Given the description of an element on the screen output the (x, y) to click on. 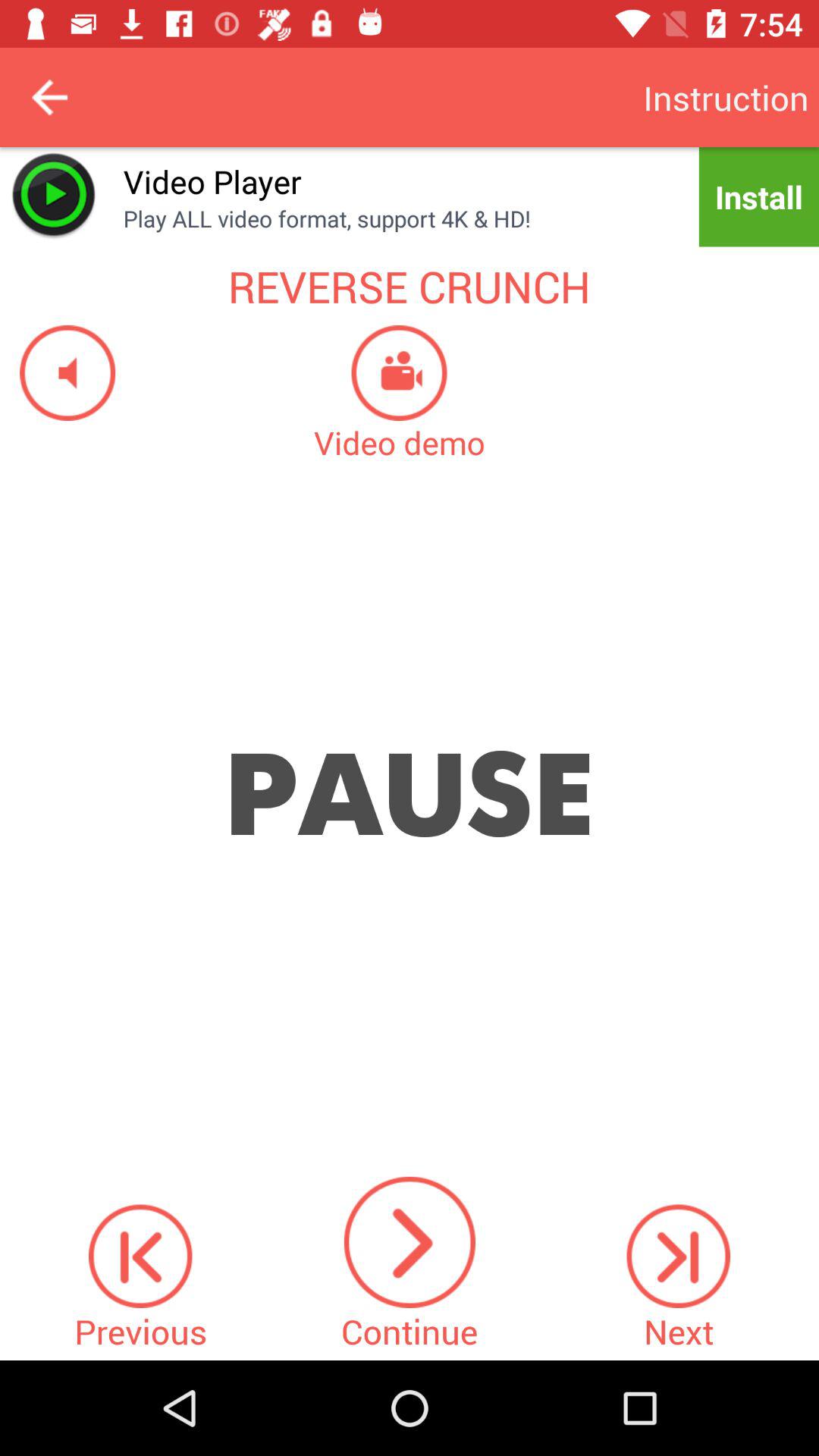
go back (49, 97)
